Given the description of an element on the screen output the (x, y) to click on. 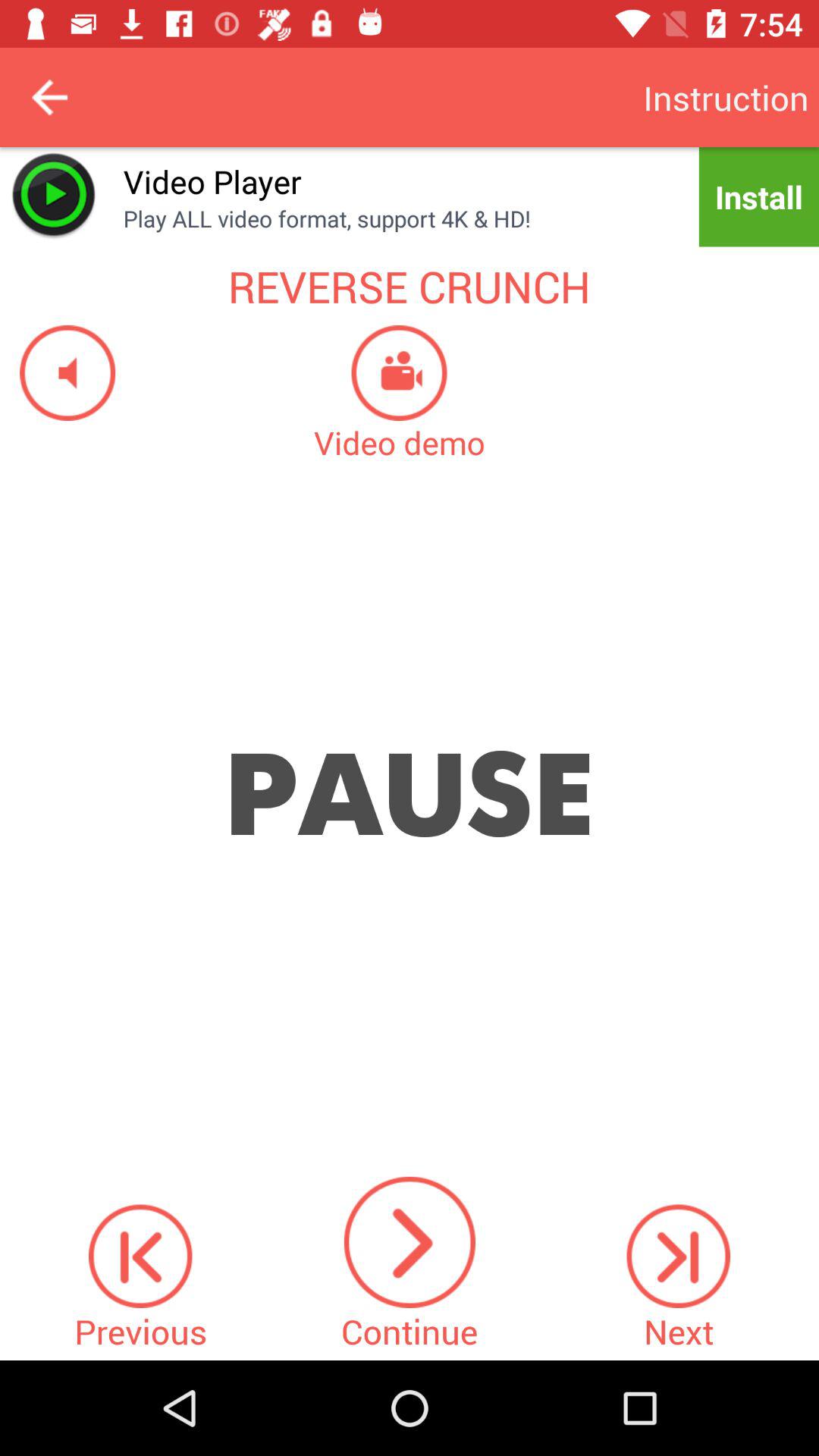
go back (49, 97)
